Given the description of an element on the screen output the (x, y) to click on. 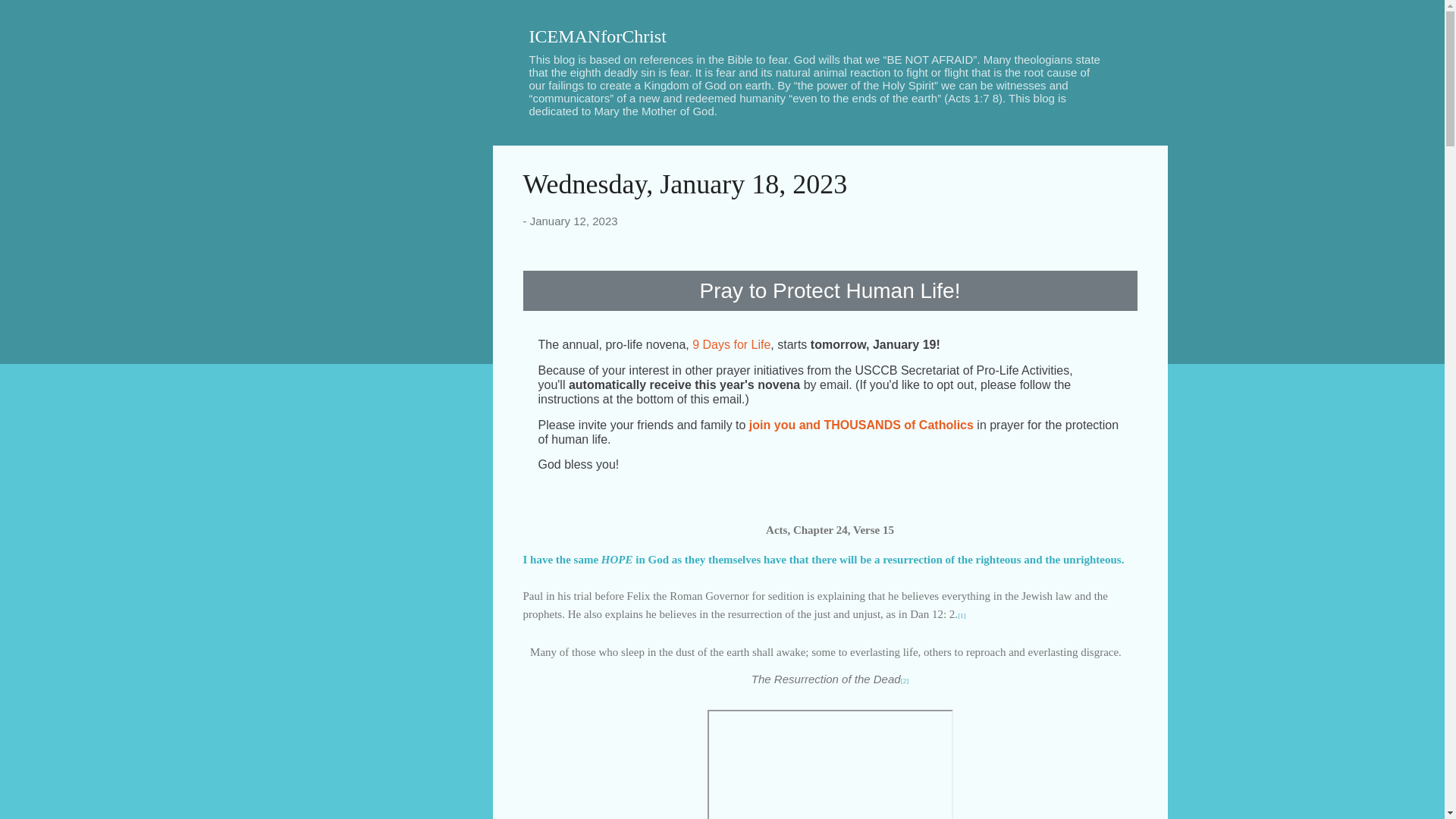
January 12, 2023 (573, 220)
Search (29, 18)
permanent link (573, 220)
ICEMANforChrist (597, 35)
9 Days for Life (731, 344)
join you and THOUSANDS of Catholics (861, 424)
